Given the description of an element on the screen output the (x, y) to click on. 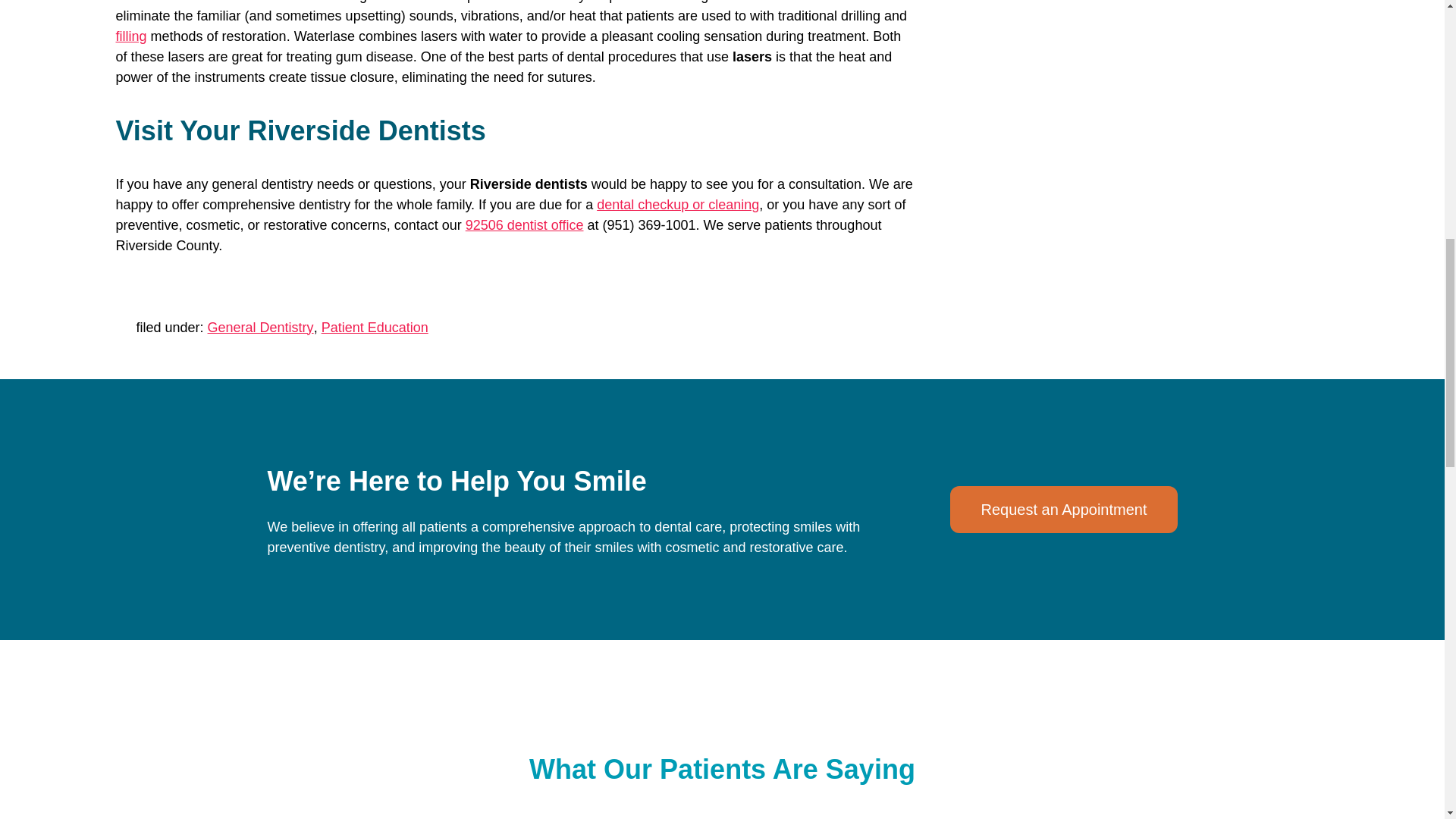
Contact (524, 224)
Oral Heath FAQs from Your Riverside Dentists (677, 204)
